Given the description of an element on the screen output the (x, y) to click on. 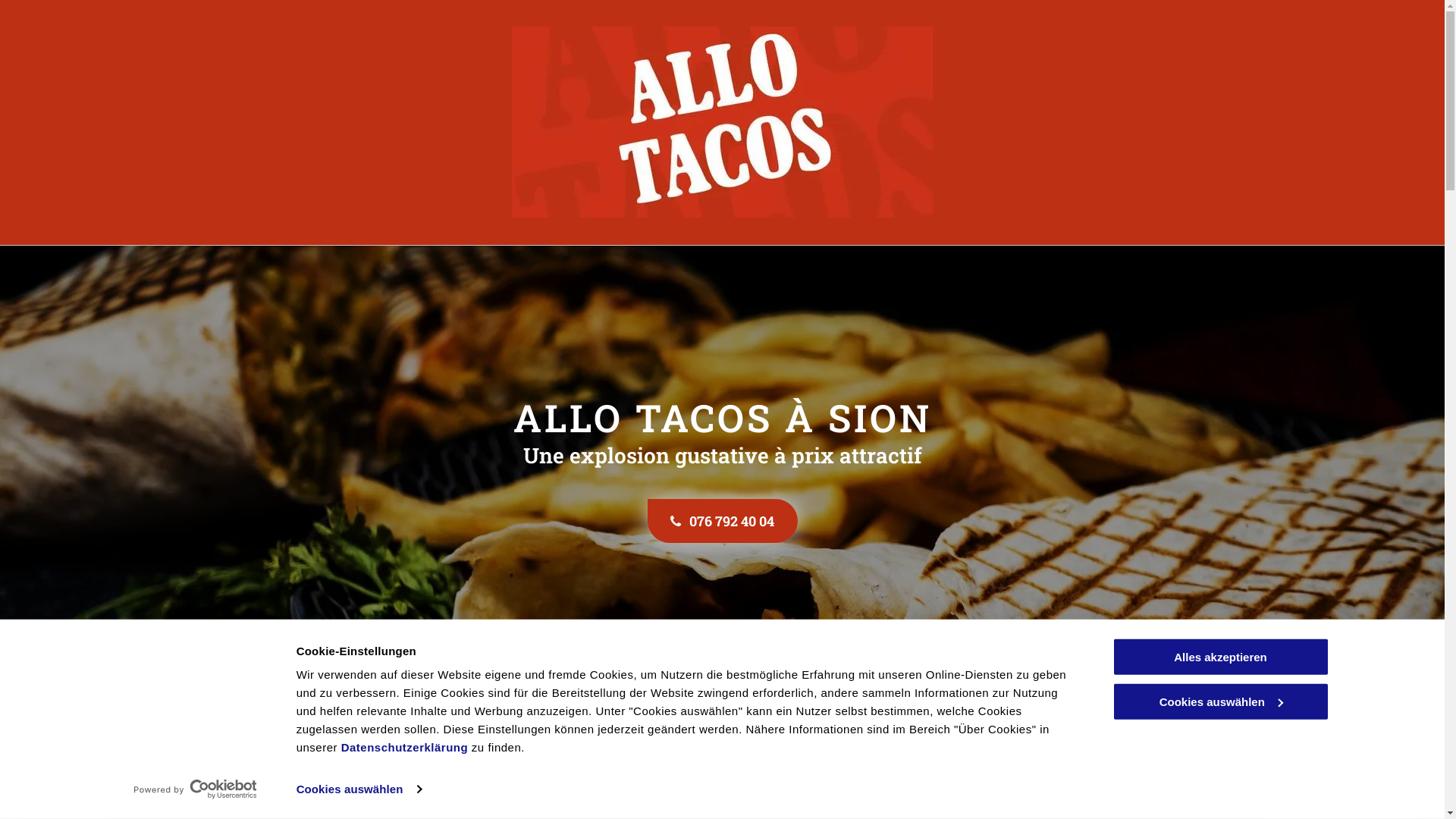
076 792 40 04 Element type: text (722, 520)
Alles akzeptieren Element type: text (1219, 656)
